Given the description of an element on the screen output the (x, y) to click on. 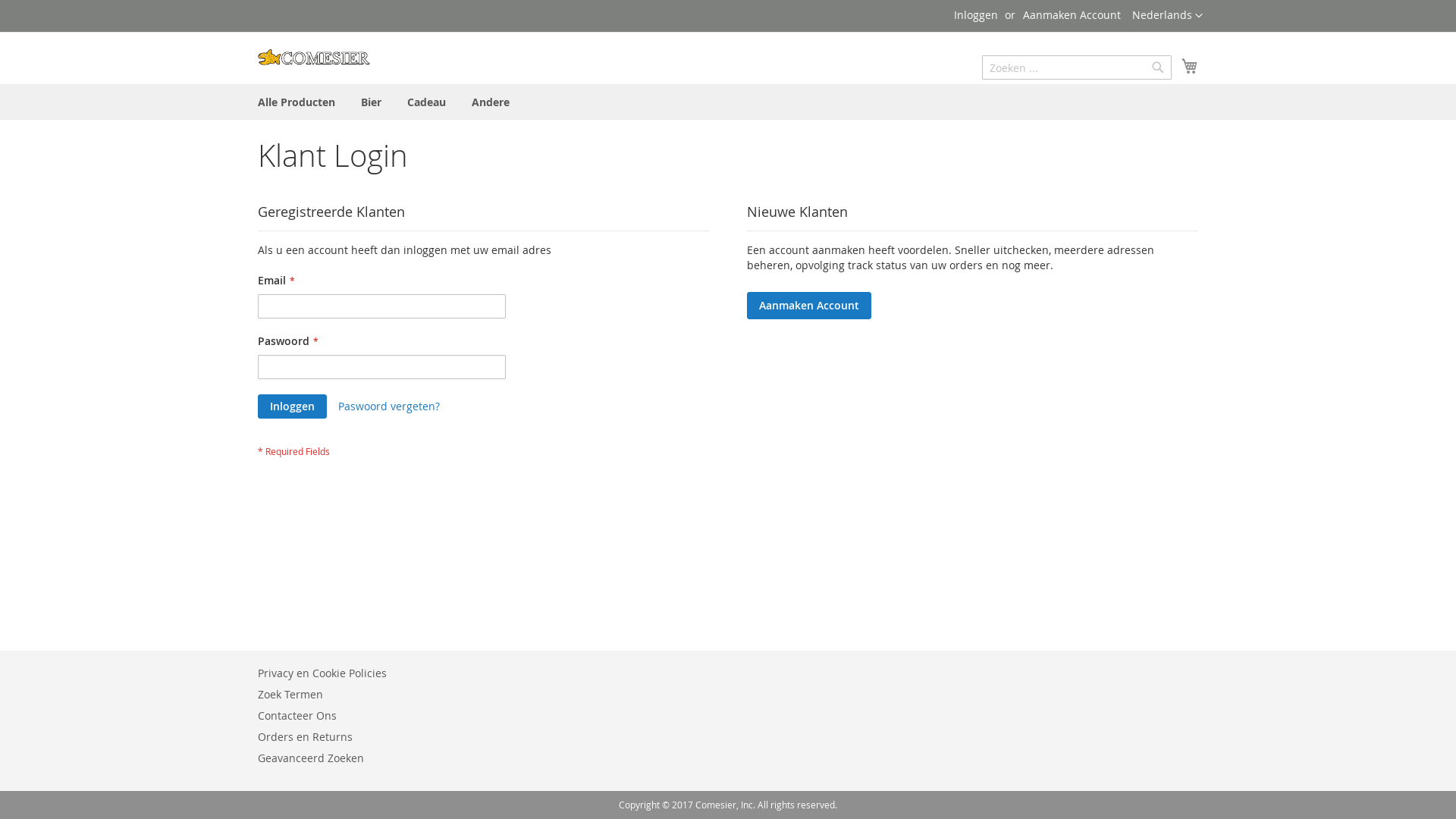
Privacy en Cookie Policies Element type: text (321, 672)
My Cart Element type: text (1189, 65)
Inloggen Element type: text (975, 14)
Paswoord vergeten? Element type: text (388, 406)
Inloggen Element type: text (291, 406)
Zoek Termen Element type: text (290, 694)
Contacteer Ons Element type: text (296, 715)
Alle Producten Element type: text (296, 101)
Paswoord Element type: hover (381, 366)
Skip to Content Element type: text (257, 6)
Hop & Honey Element type: hover (313, 57)
Geavanceerd Zoeken Element type: text (310, 757)
Orders en Returns Element type: text (304, 736)
Andere Element type: text (490, 101)
Email Element type: hover (381, 306)
Cadeau Element type: text (426, 101)
Aanmaken Account Element type: text (808, 305)
Bier Element type: text (370, 101)
Aanmaken Account Element type: text (1071, 14)
Search Element type: text (1157, 67)
